Given the description of an element on the screen output the (x, y) to click on. 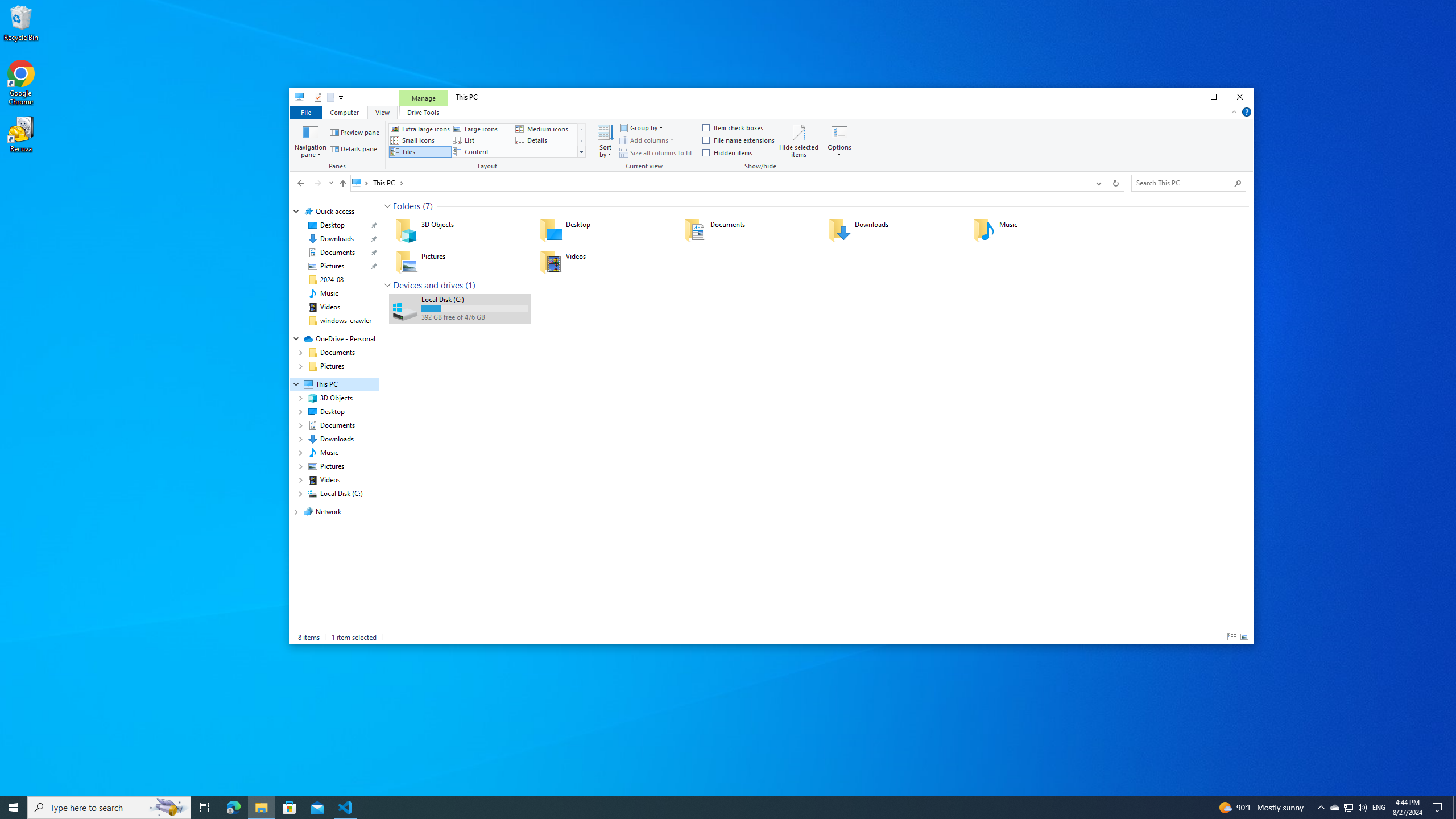
3D Objects (459, 229)
System (295, 98)
Minimize the Ribbon (1233, 111)
Drive Tools (422, 111)
List (482, 140)
Close (1240, 96)
Hidden items (727, 152)
File Explorer - 1 running window (261, 807)
windows_crawler (345, 320)
File tab (305, 111)
Computer (343, 111)
